Given the description of an element on the screen output the (x, y) to click on. 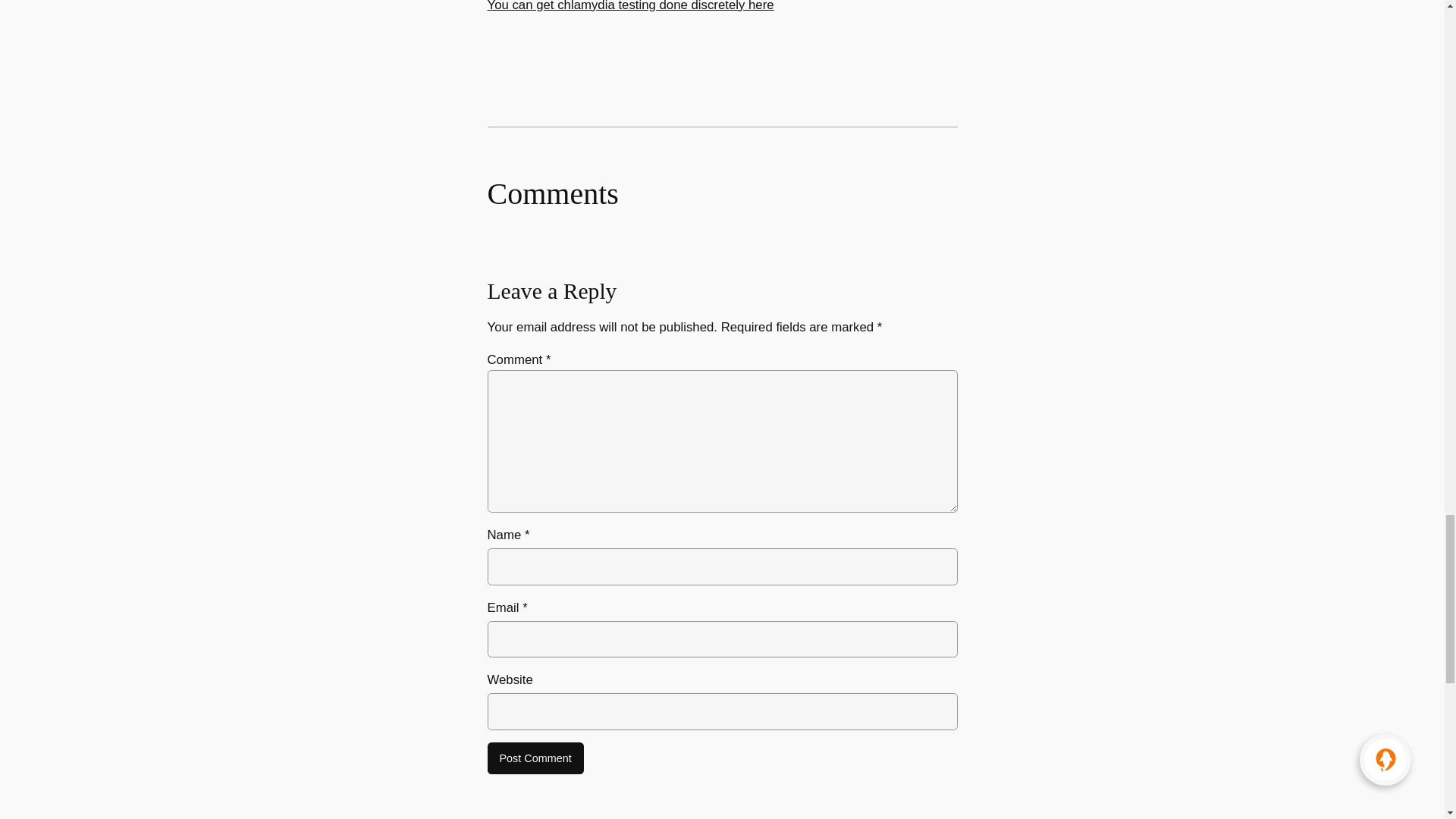
You can get chlamydia testing done discretely here (629, 6)
Post Comment (534, 757)
Post Comment (534, 757)
